Given the description of an element on the screen output the (x, y) to click on. 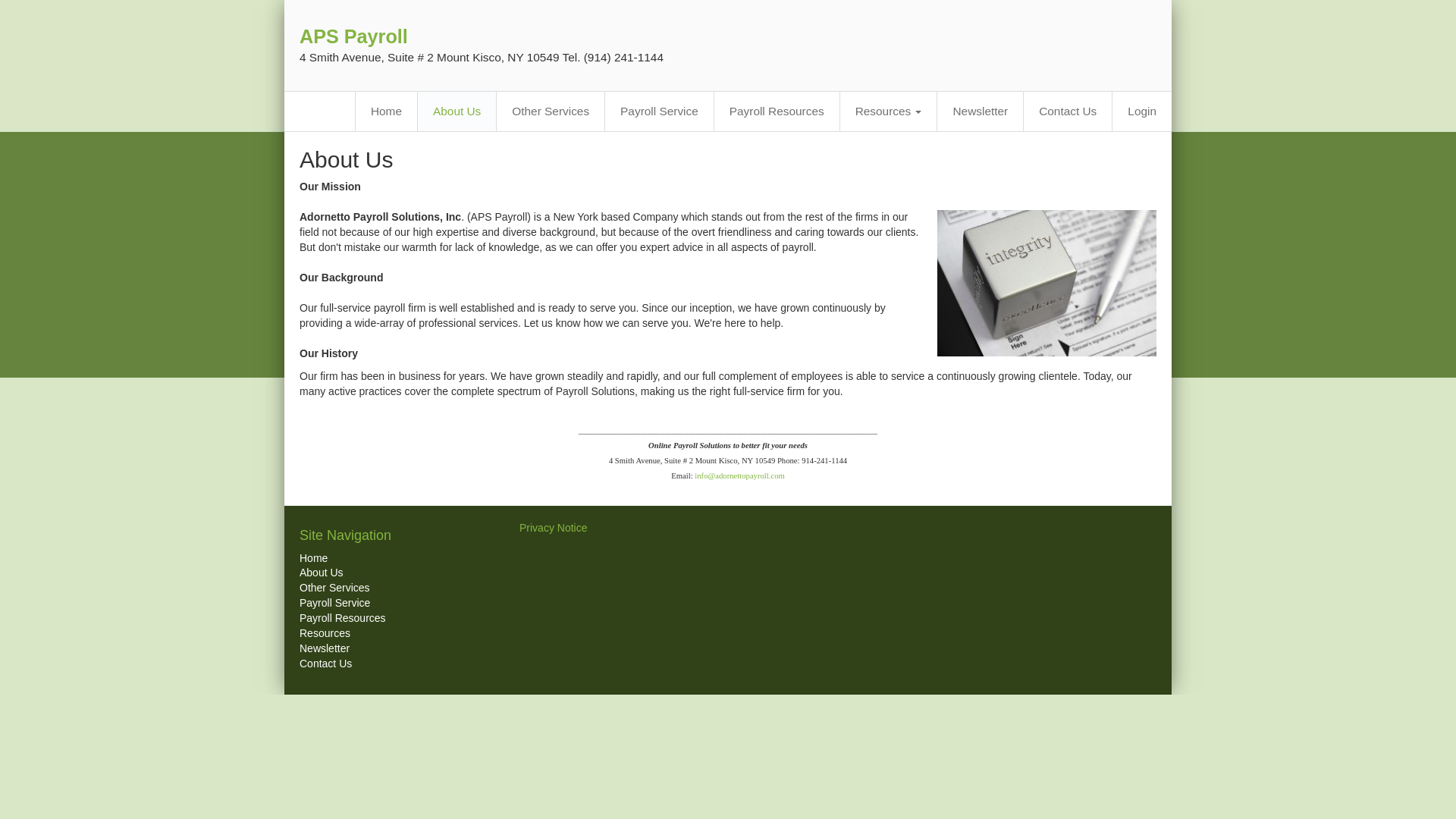
Newsletter (324, 648)
Home (313, 558)
Resources (888, 111)
Payroll Resources (777, 111)
About Us (321, 572)
Other Services (334, 587)
Contact Us (325, 663)
Payroll Service (334, 603)
Resources (324, 633)
Newsletter (980, 111)
